Given the description of an element on the screen output the (x, y) to click on. 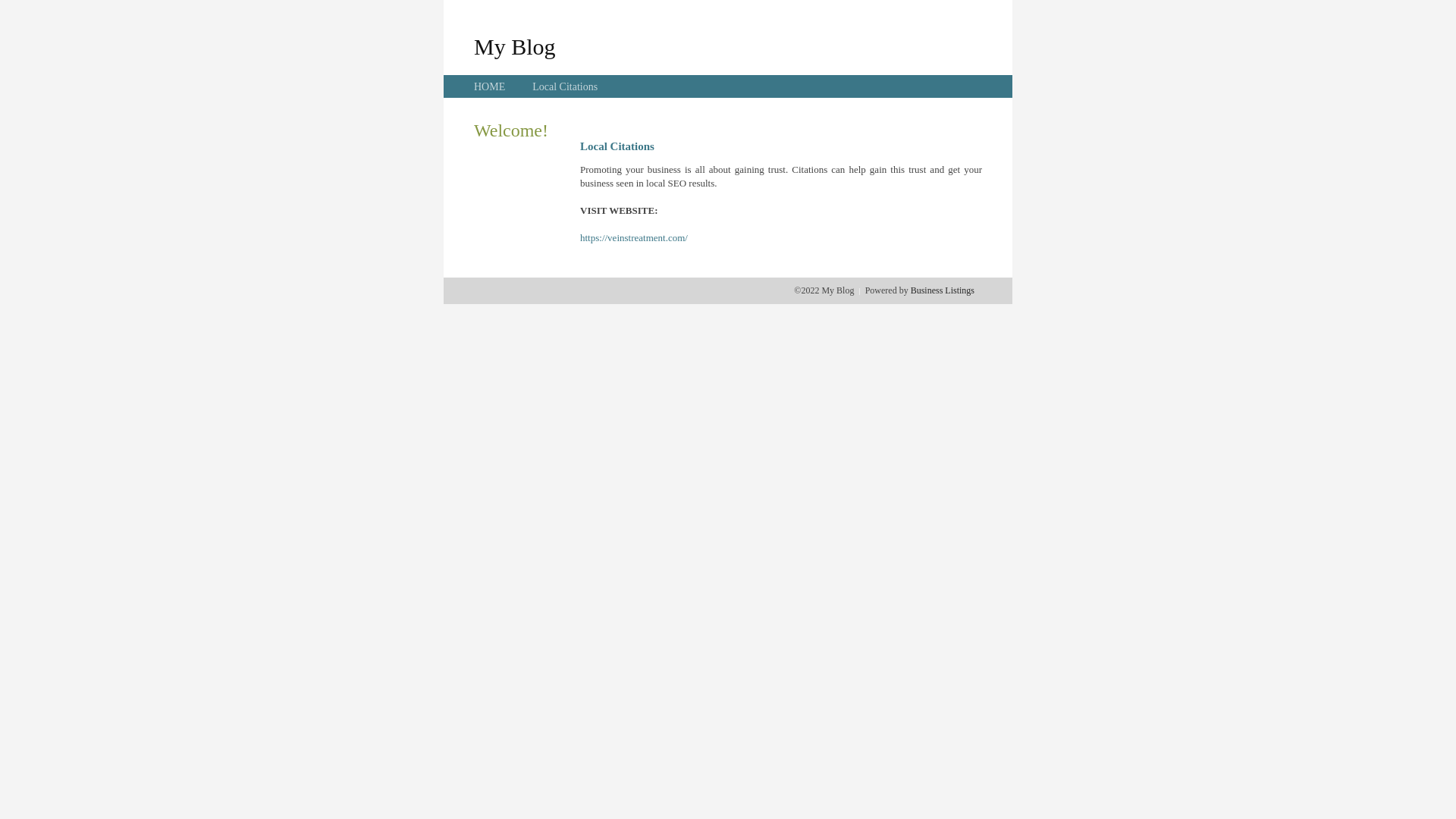
HOME Element type: text (489, 86)
https://veinstreatment.com/ Element type: text (633, 237)
My Blog Element type: text (514, 46)
Local Citations Element type: text (564, 86)
Business Listings Element type: text (942, 290)
